Given the description of an element on the screen output the (x, y) to click on. 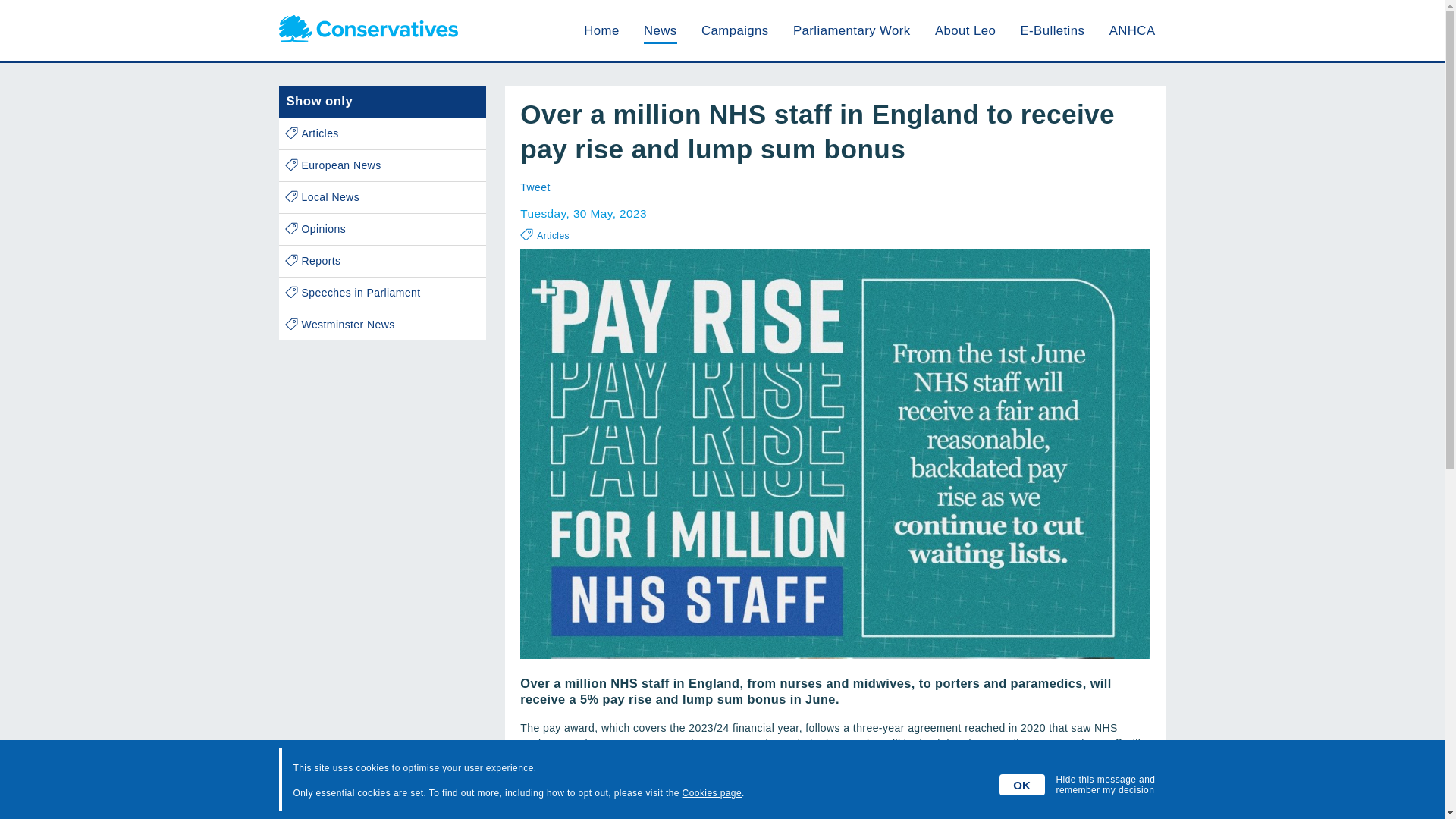
Parliamentary Work (852, 30)
Opinions (382, 228)
Articles (382, 133)
Reports (382, 260)
About Leo (964, 30)
Tweet (534, 186)
Campaigns (734, 30)
Local News (382, 196)
Cookies page (711, 792)
European News (382, 164)
E-Bulletins (1052, 30)
ANHCA (1132, 30)
OK (1021, 784)
Articles (553, 235)
